Given the description of an element on the screen output the (x, y) to click on. 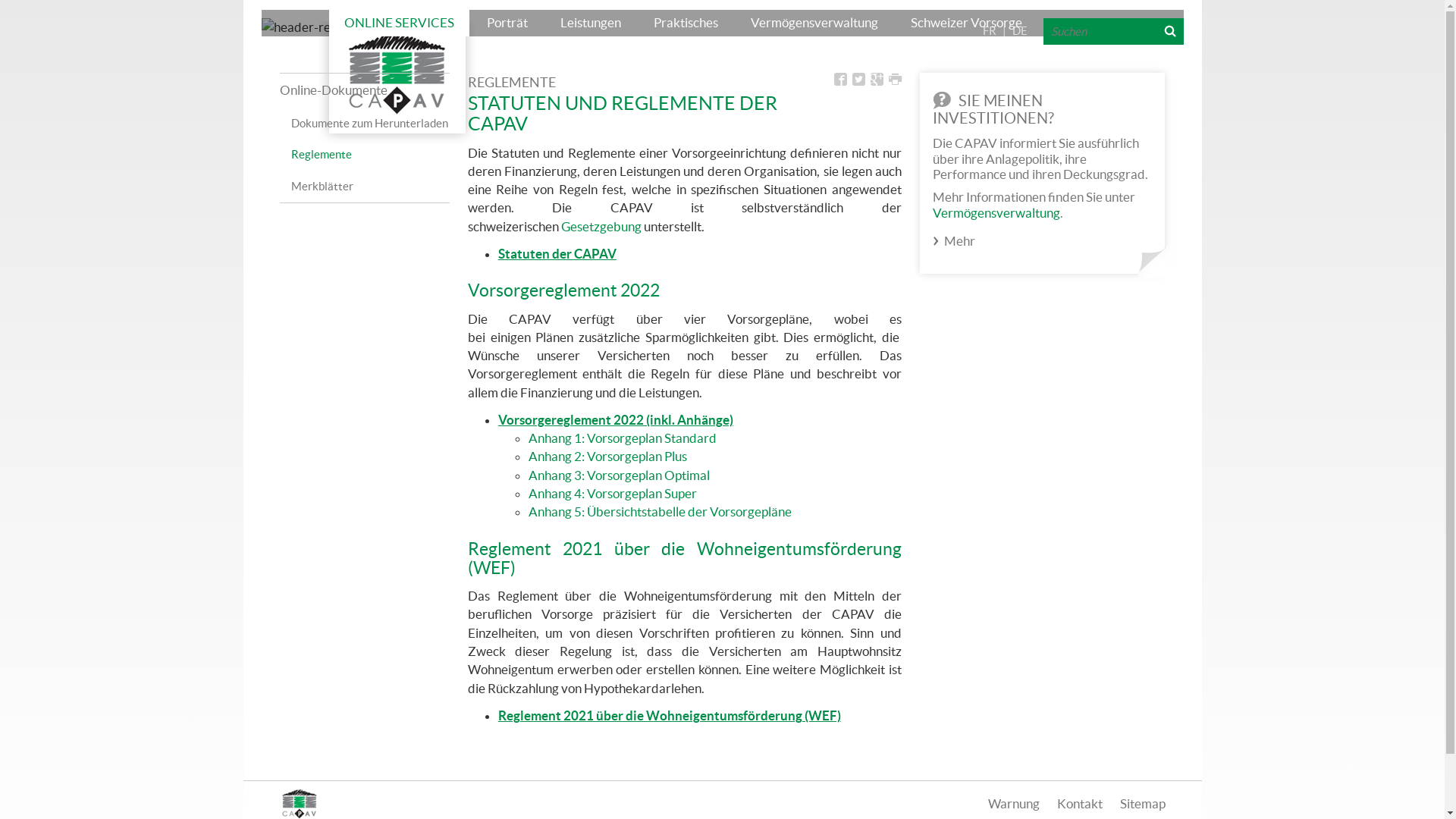
Statuten der CAPAV Element type: text (557, 253)
Schweizer Vorsorge Element type: text (966, 22)
Kontakt Element type: text (1079, 803)
Anhang 3: Vorsorgeplan Optimal Element type: text (618, 474)
Leistungen Element type: text (590, 22)
Dokumente zum Herunterladen Element type: text (370, 127)
Gesetzgebung Element type: text (601, 226)
FR Element type: text (989, 30)
DE Element type: text (1019, 30)
Kontakt Element type: text (1077, 22)
Praktisches Element type: text (685, 22)
Anhang 2: Vorsorgeplan Plus Element type: text (607, 455)
Anhang 4: Vorsorgeplan Super Element type: text (612, 493)
Anhang 1: Vorsorgeplan Standard Element type: text (622, 437)
Online-Dokumente Element type: text (363, 89)
Warnung Element type: text (1012, 803)
Mehr Element type: text (959, 240)
SIE MEINEN INVESTITIONEN? Element type: text (993, 109)
ONLINE SERVICES Element type: text (399, 22)
Reglemente Element type: text (370, 158)
Sitemap Element type: text (1141, 803)
